Given the description of an element on the screen output the (x, y) to click on. 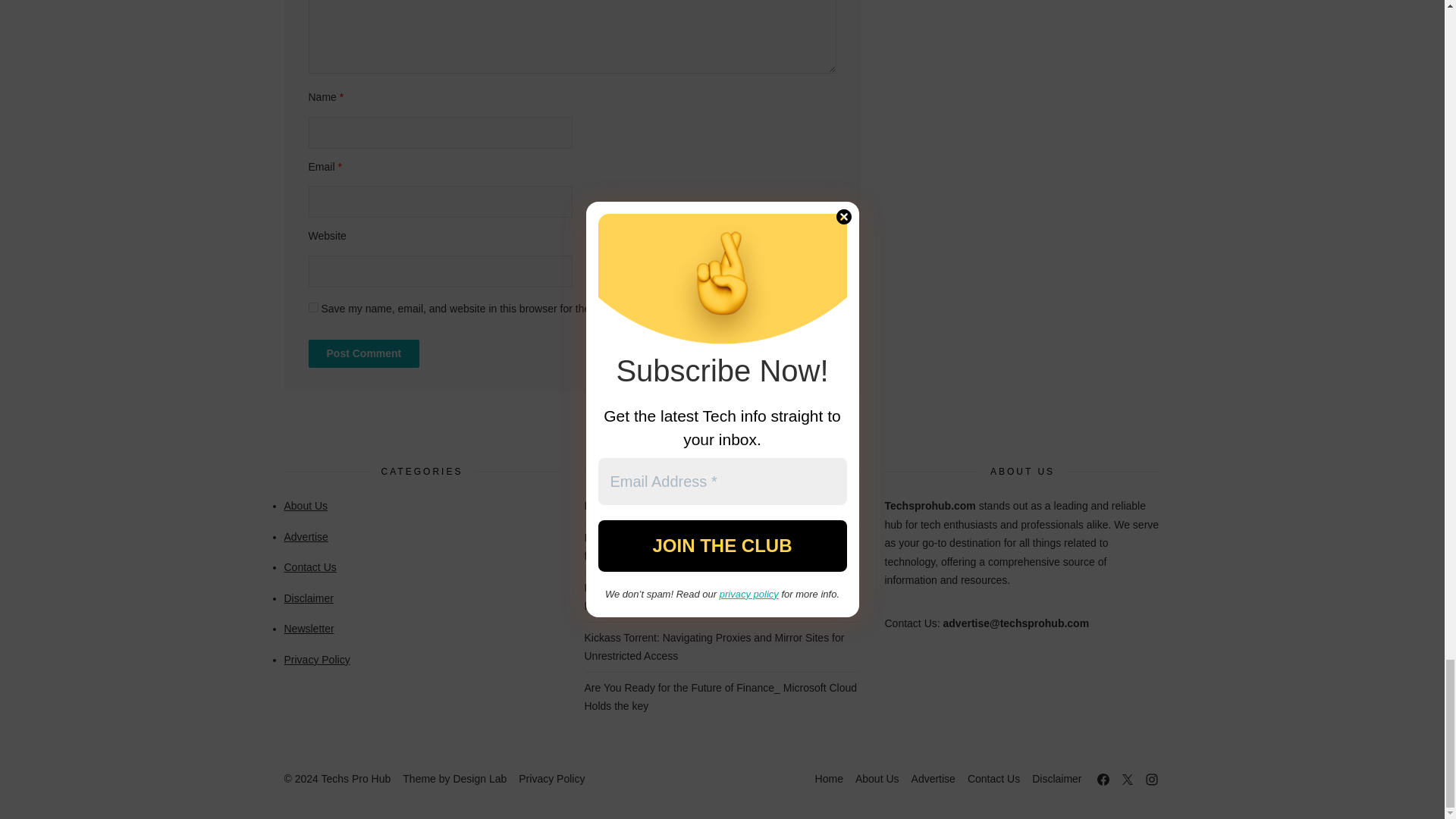
yes (312, 307)
Post Comment (363, 353)
